Given the description of an element on the screen output the (x, y) to click on. 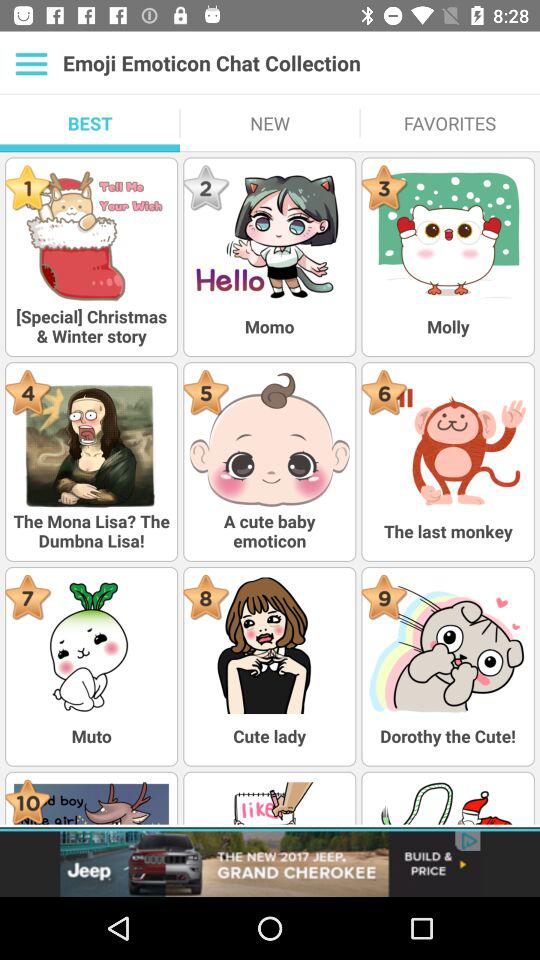
more options (31, 63)
